Given the description of an element on the screen output the (x, y) to click on. 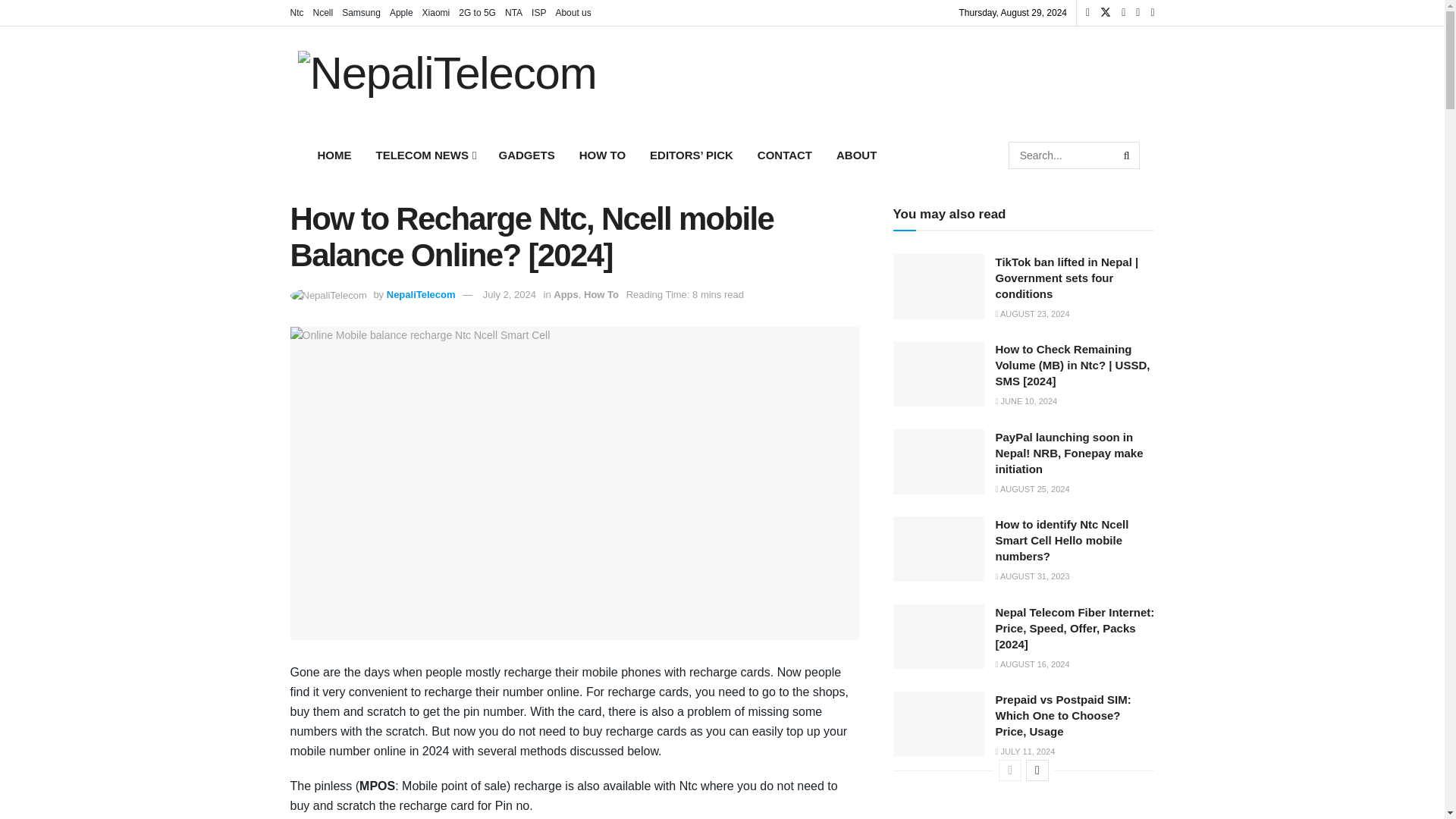
About us (572, 12)
CONTACT (784, 155)
Previous (1010, 770)
HOME (333, 155)
2G to 5G (477, 12)
Samsung (361, 12)
ABOUT (856, 155)
TELECOM NEWS (425, 155)
GADGETS (526, 155)
HOW TO (602, 155)
